Given the description of an element on the screen output the (x, y) to click on. 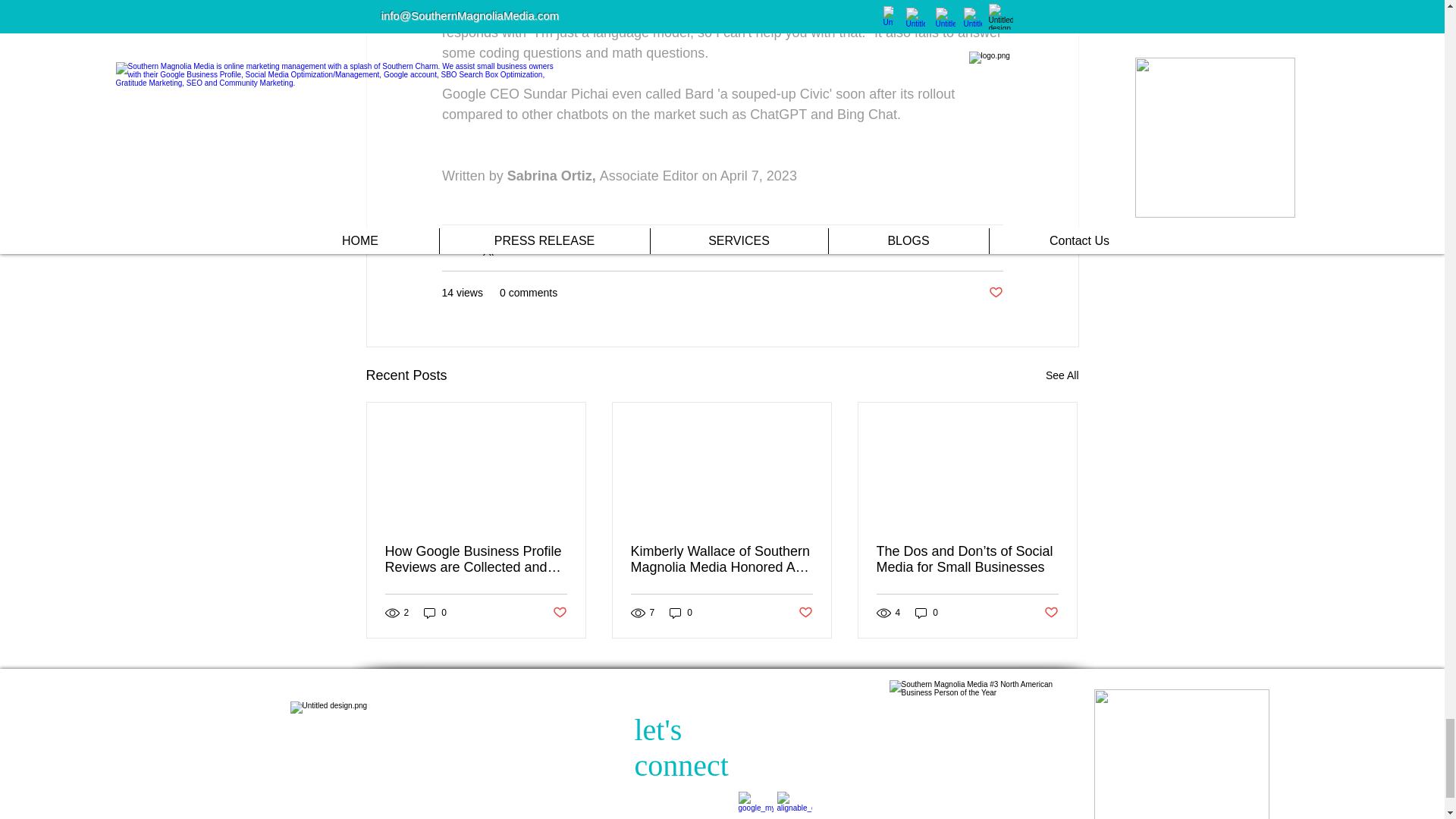
Post not marked as liked (995, 293)
Southern Magnolia Media Woman Business O (1180, 754)
See All (1061, 375)
0 (435, 612)
